Given the description of an element on the screen output the (x, y) to click on. 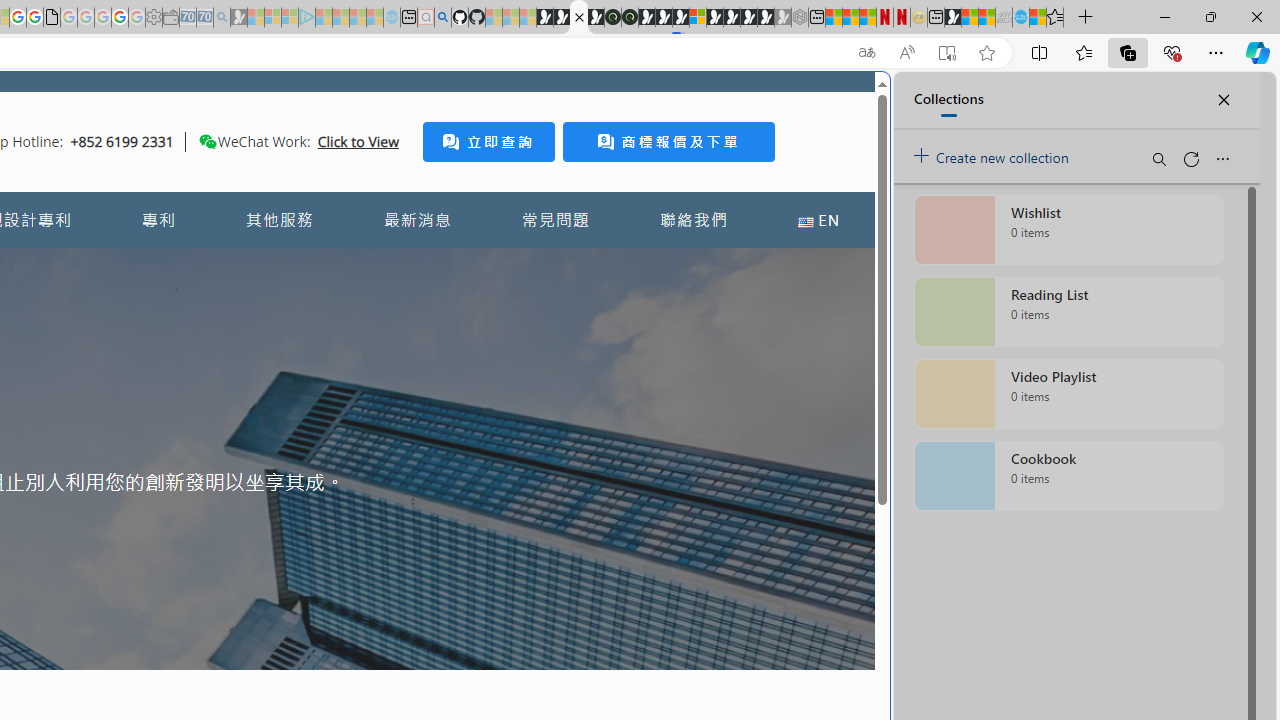
Wallet - Sleeping (170, 17)
Show translate options (867, 53)
Sign in to your account (697, 17)
